Given the description of an element on the screen output the (x, y) to click on. 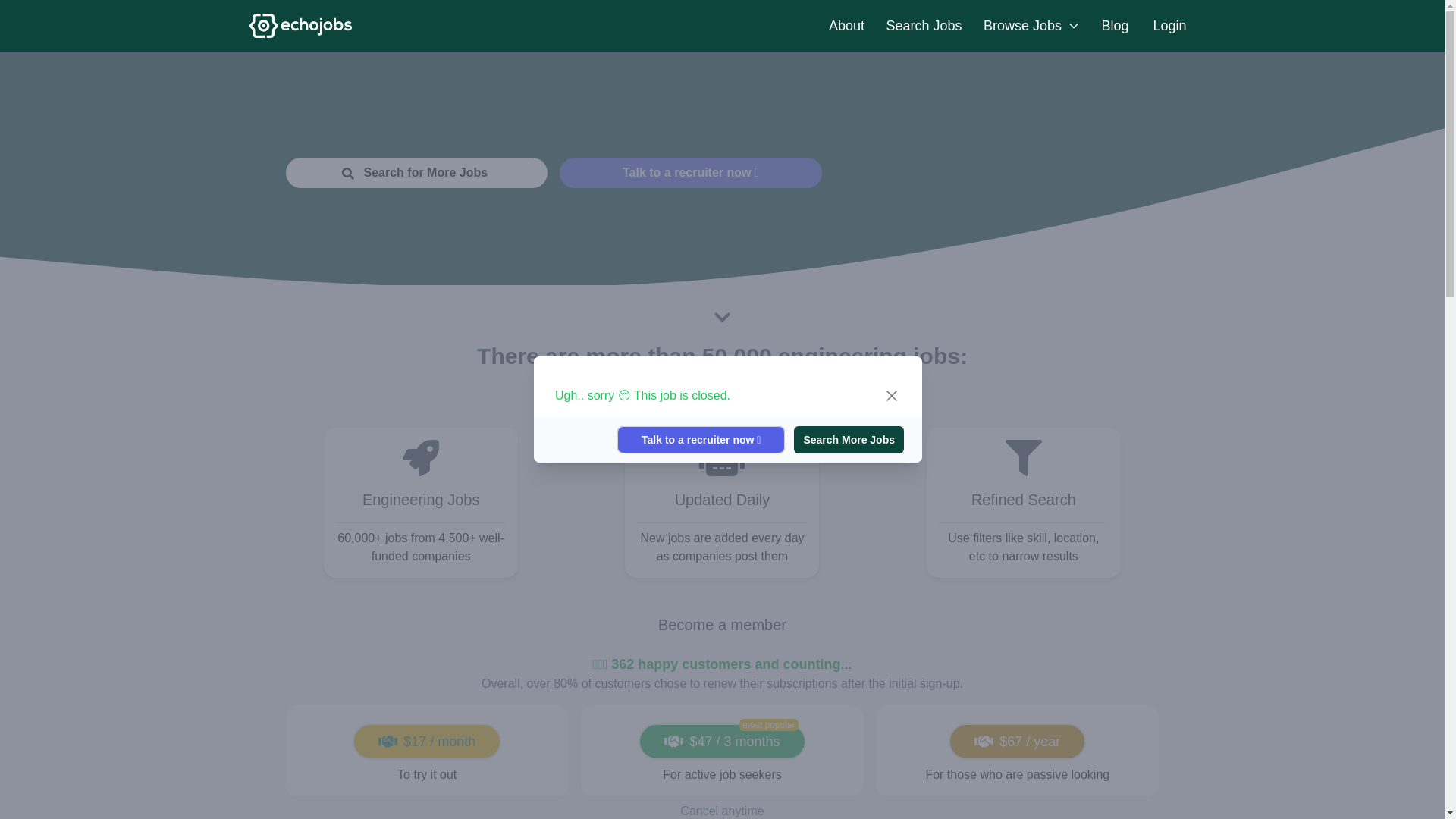
Search Jobs (923, 25)
Search More Jobs (844, 439)
Search More Jobs (848, 439)
Browse Jobs (1031, 25)
About (846, 25)
Blog (1114, 25)
Search for More Jobs (416, 173)
